Given the description of an element on the screen output the (x, y) to click on. 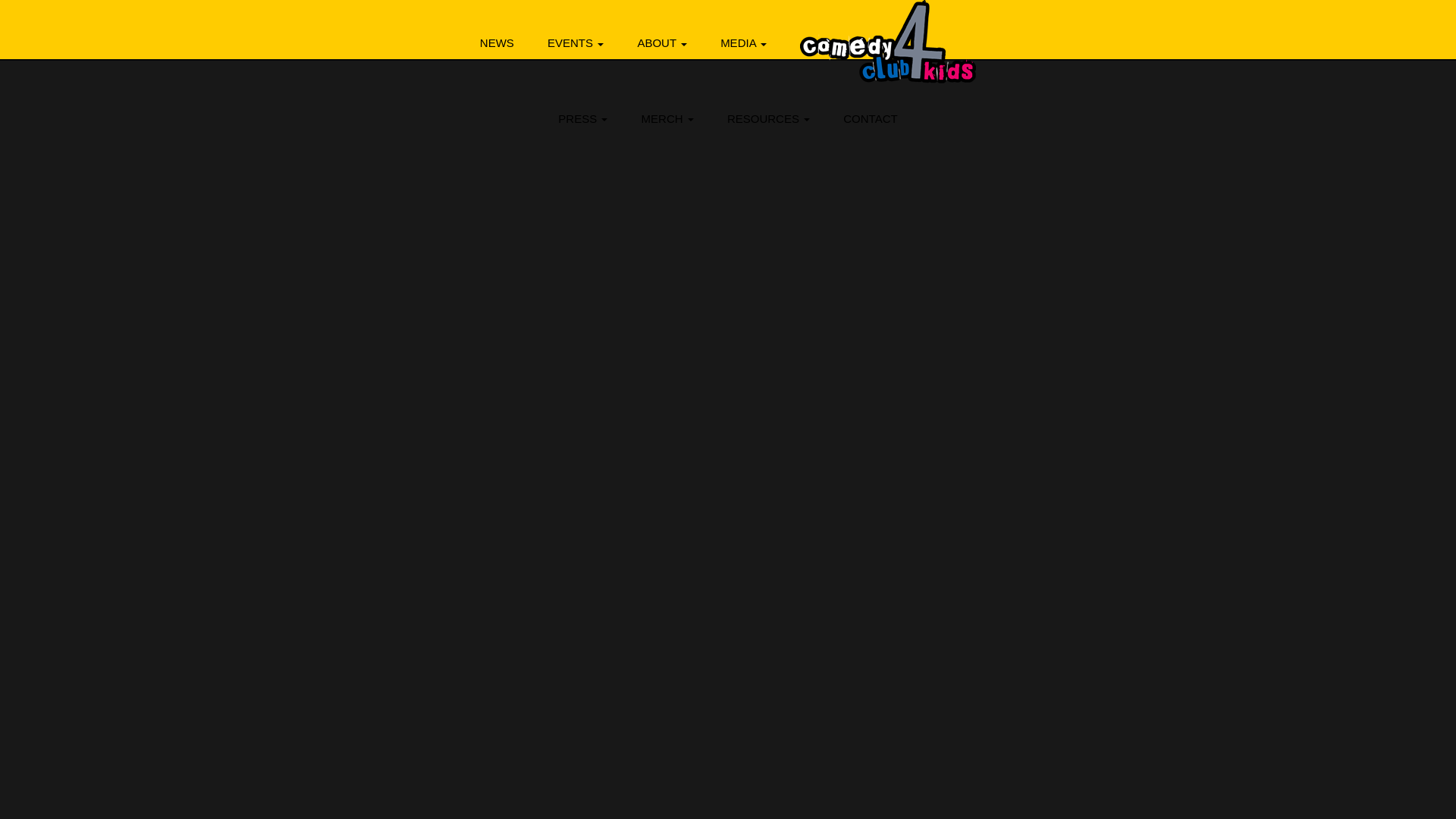
About (661, 43)
MEDIA (742, 43)
Media (742, 43)
Merch (667, 118)
Press (583, 118)
Comedy Club 4 Kids (887, 41)
PRESS (583, 118)
News (496, 43)
NEWS (496, 43)
EVENTS (575, 43)
CONTACT (870, 118)
ABOUT (661, 43)
MERCH (667, 118)
RESOURCES (768, 118)
Events (575, 43)
